Given the description of an element on the screen output the (x, y) to click on. 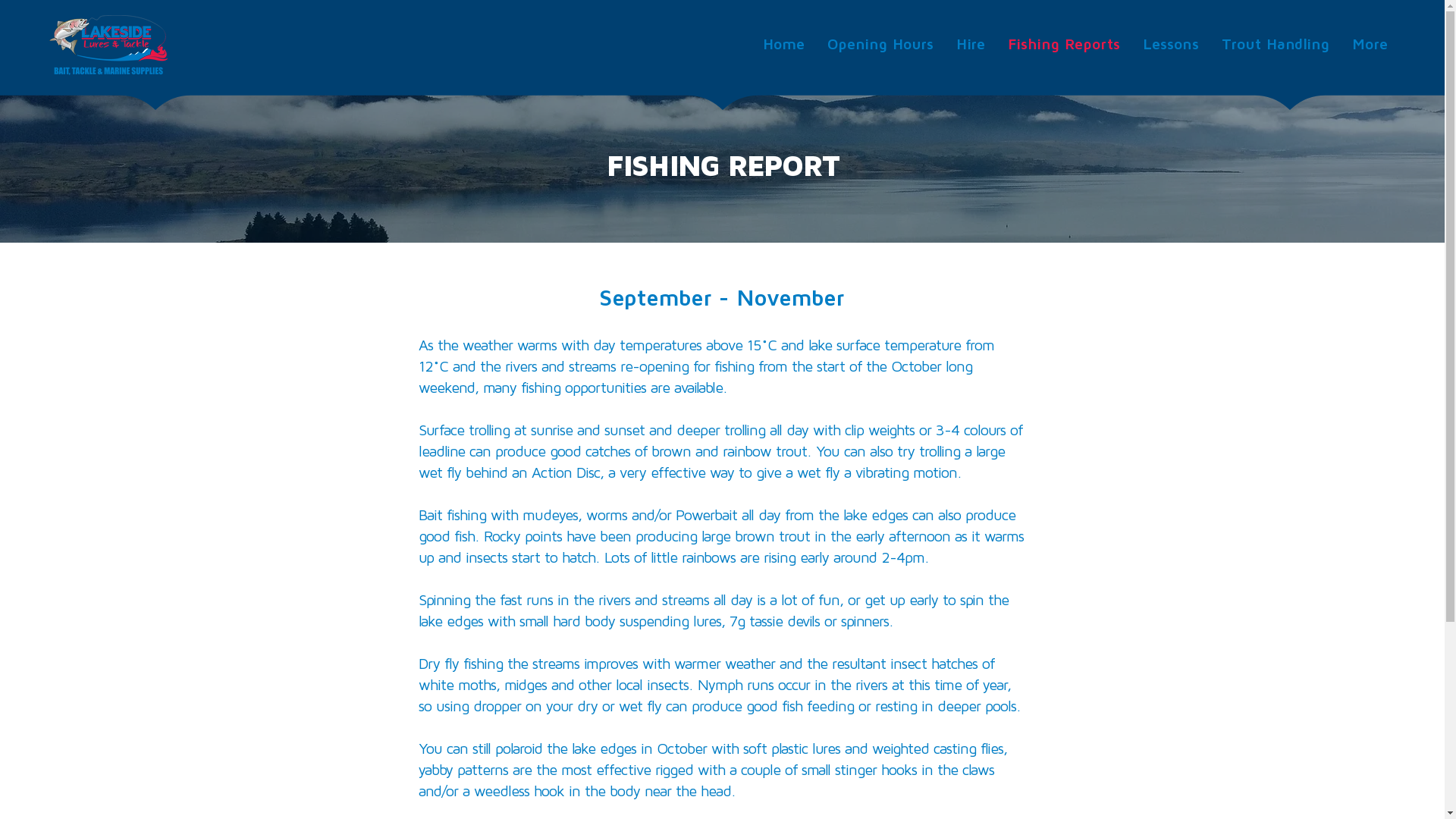
Hire Element type: text (970, 44)
Fishing Reports Element type: text (1063, 44)
Lessons Element type: text (1170, 44)
Opening Hours Element type: text (879, 44)
Home Element type: text (783, 44)
Trout Handling Element type: text (1275, 44)
